Given the description of an element on the screen output the (x, y) to click on. 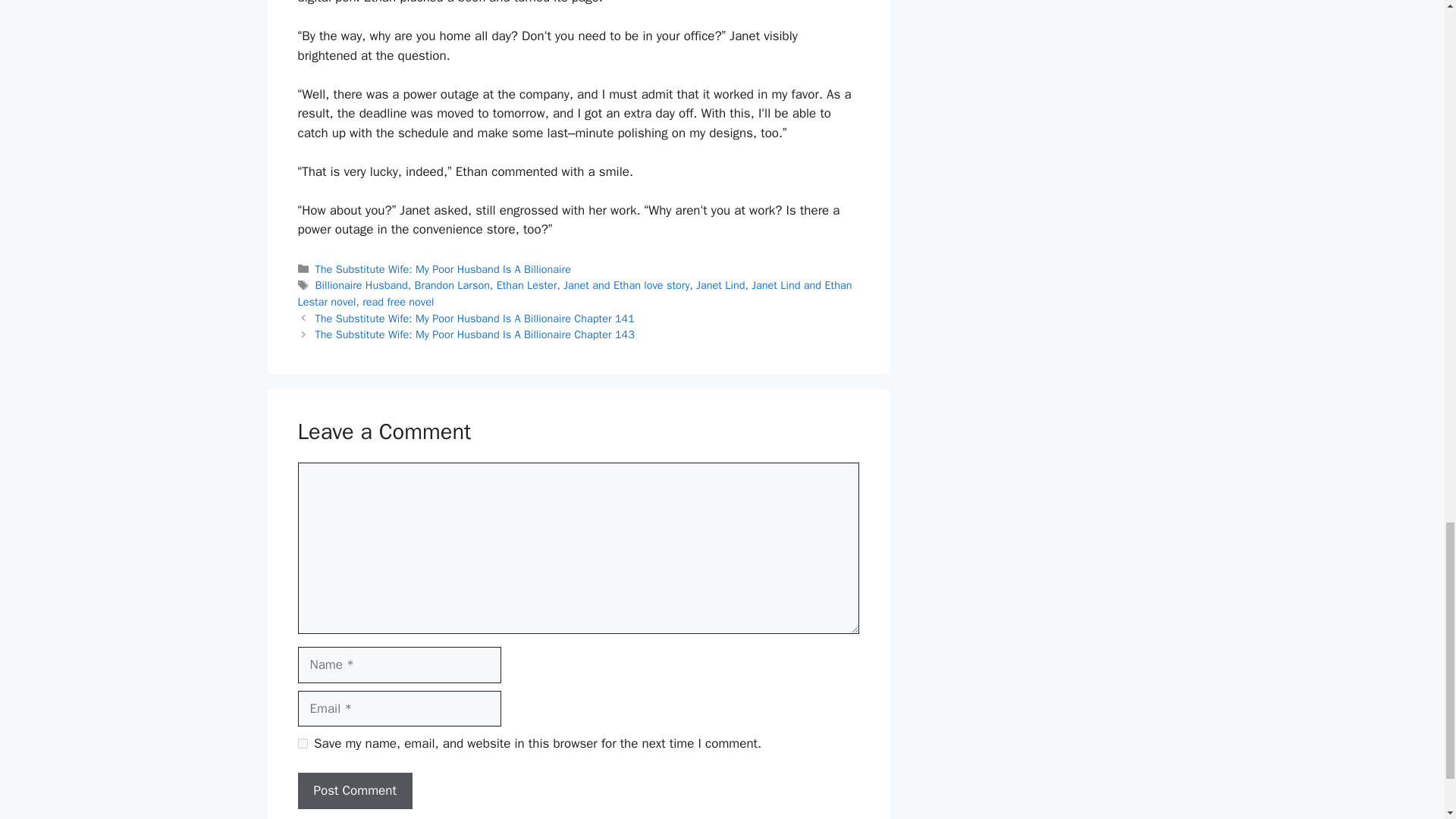
The Substitute Wife: My Poor Husband Is A Billionaire (442, 269)
yes (302, 743)
Brandon Larson (451, 284)
Janet and Ethan love story (625, 284)
Post Comment (354, 791)
Ethan Lester (526, 284)
Janet Lind (719, 284)
read free novel (397, 301)
Billionaire Husband (361, 284)
Post Comment (354, 791)
Janet Lind and Ethan Lestar novel (574, 293)
